Given the description of an element on the screen output the (x, y) to click on. 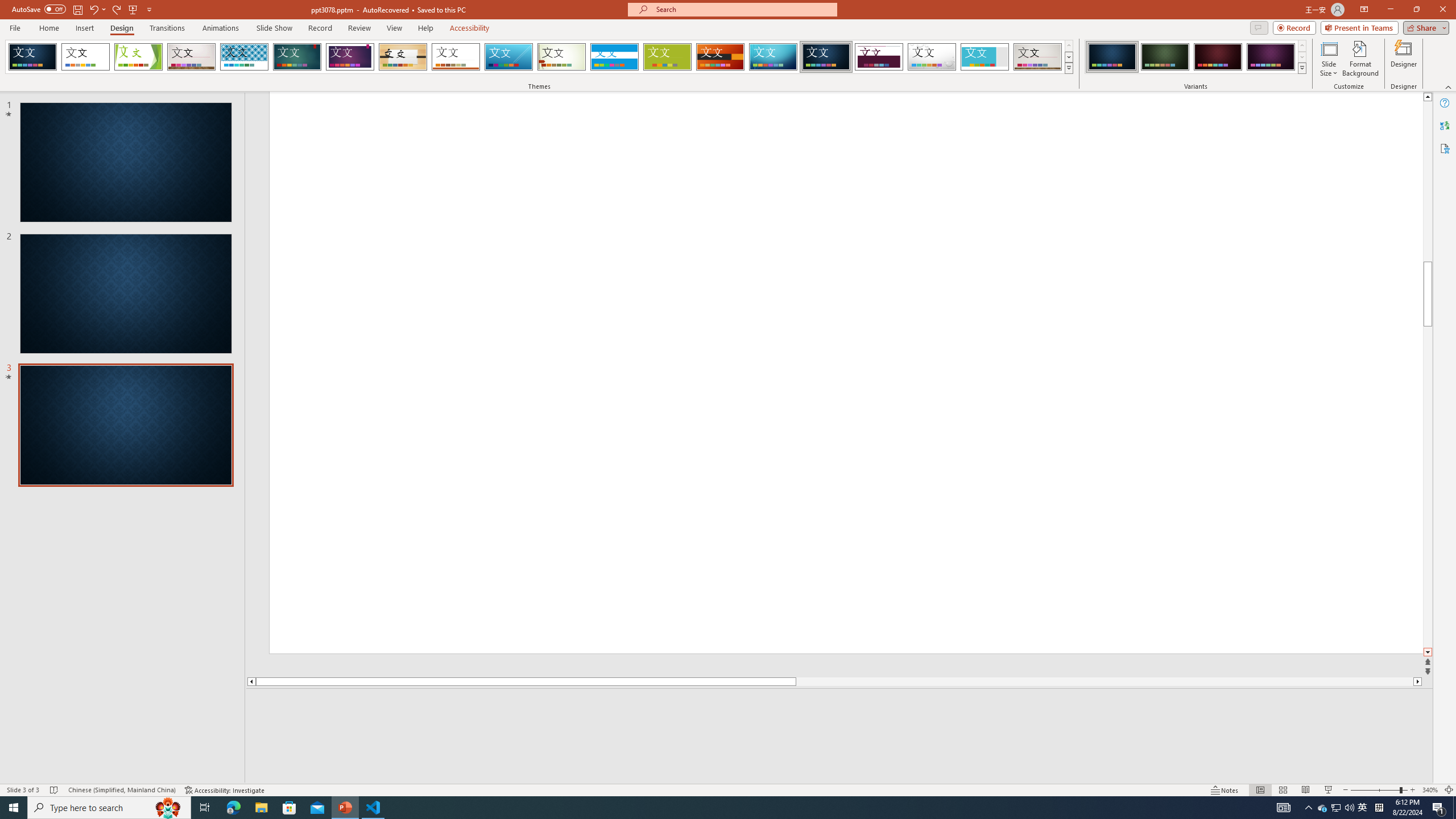
Damask Variant 1 (1112, 56)
Office Theme (85, 56)
Facet (138, 56)
Droplet (931, 56)
Ion (296, 56)
AutomationID: ThemeVariantsGallery (1195, 56)
Organic (403, 56)
